Given the description of an element on the screen output the (x, y) to click on. 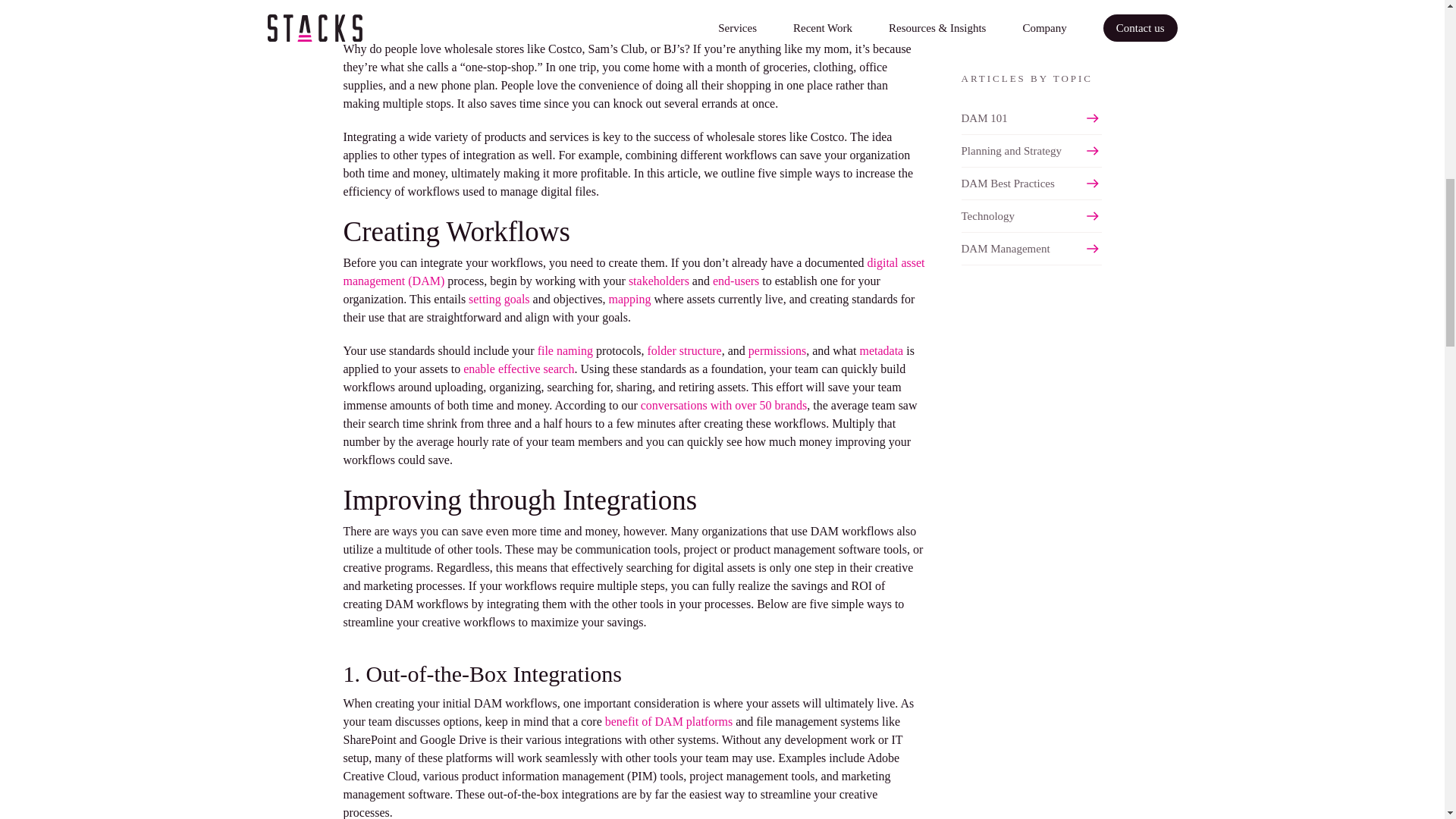
benefit of DAM platforms (668, 721)
enable effective search (518, 368)
stakeholders (658, 280)
setting goals (498, 298)
end-users (735, 280)
file naming (564, 350)
mapping (629, 298)
metadata (880, 350)
conversations with over 50 brands (724, 404)
permissions (777, 350)
